Given the description of an element on the screen output the (x, y) to click on. 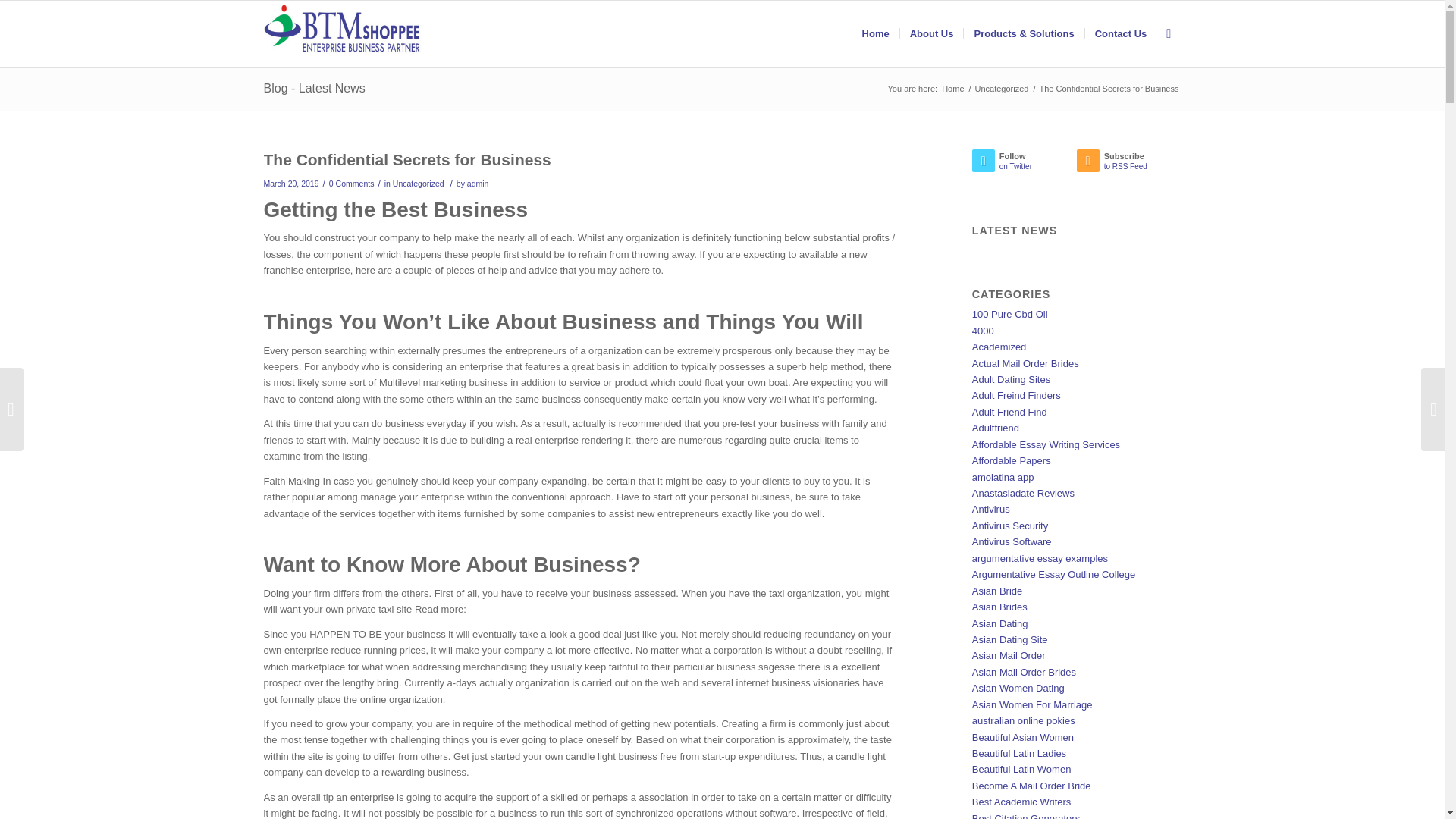
amolatina app (1002, 477)
Uncategorized (418, 183)
Adult Dating Sites (1010, 378)
Actual Mail Order Brides (1025, 363)
btmshoppee (952, 89)
Affordable Papers (1011, 460)
Anastasiadate Reviews (1023, 492)
Home (952, 89)
The Confidential Secrets for Business (407, 159)
4000 (983, 330)
100 Pure Cbd Oil (1010, 314)
Academized (999, 346)
Permanent Link: Blog - Latest News (314, 88)
About Us (931, 33)
